Given the description of an element on the screen output the (x, y) to click on. 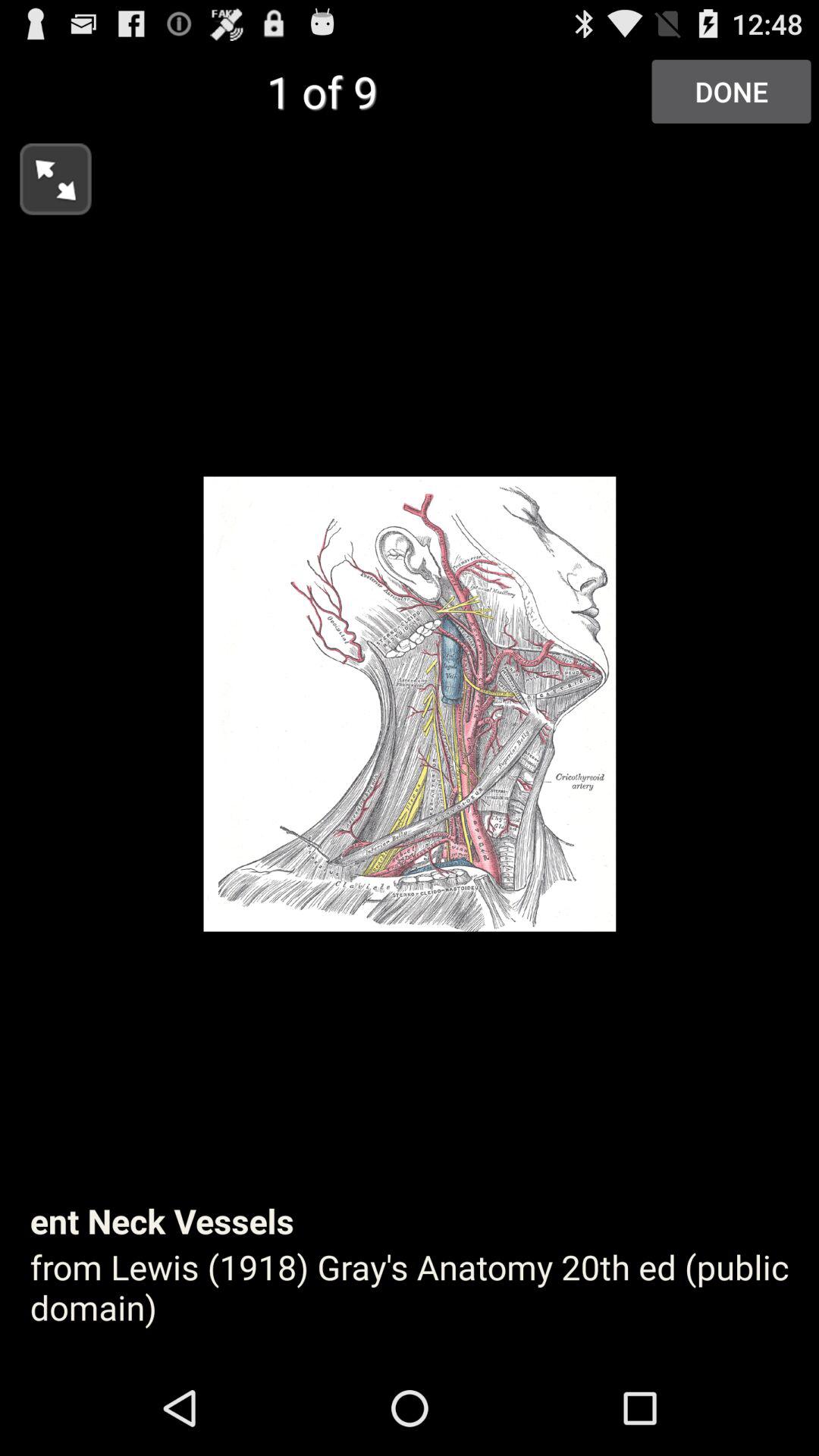
select the done (731, 91)
